Given the description of an element on the screen output the (x, y) to click on. 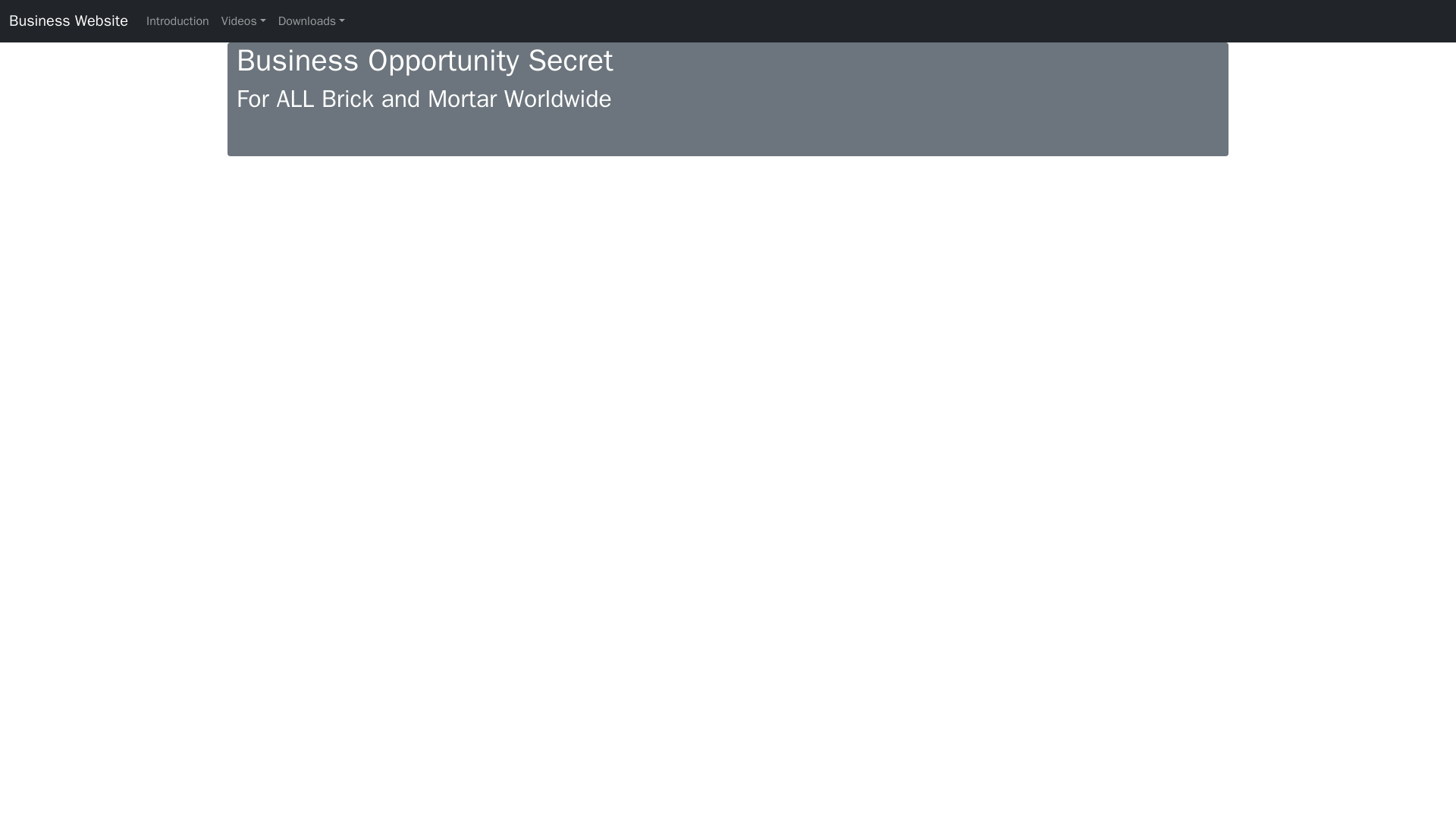
Downloads (311, 20)
Videos (243, 20)
Introduction (177, 20)
Business Website (68, 20)
